Given the description of an element on the screen output the (x, y) to click on. 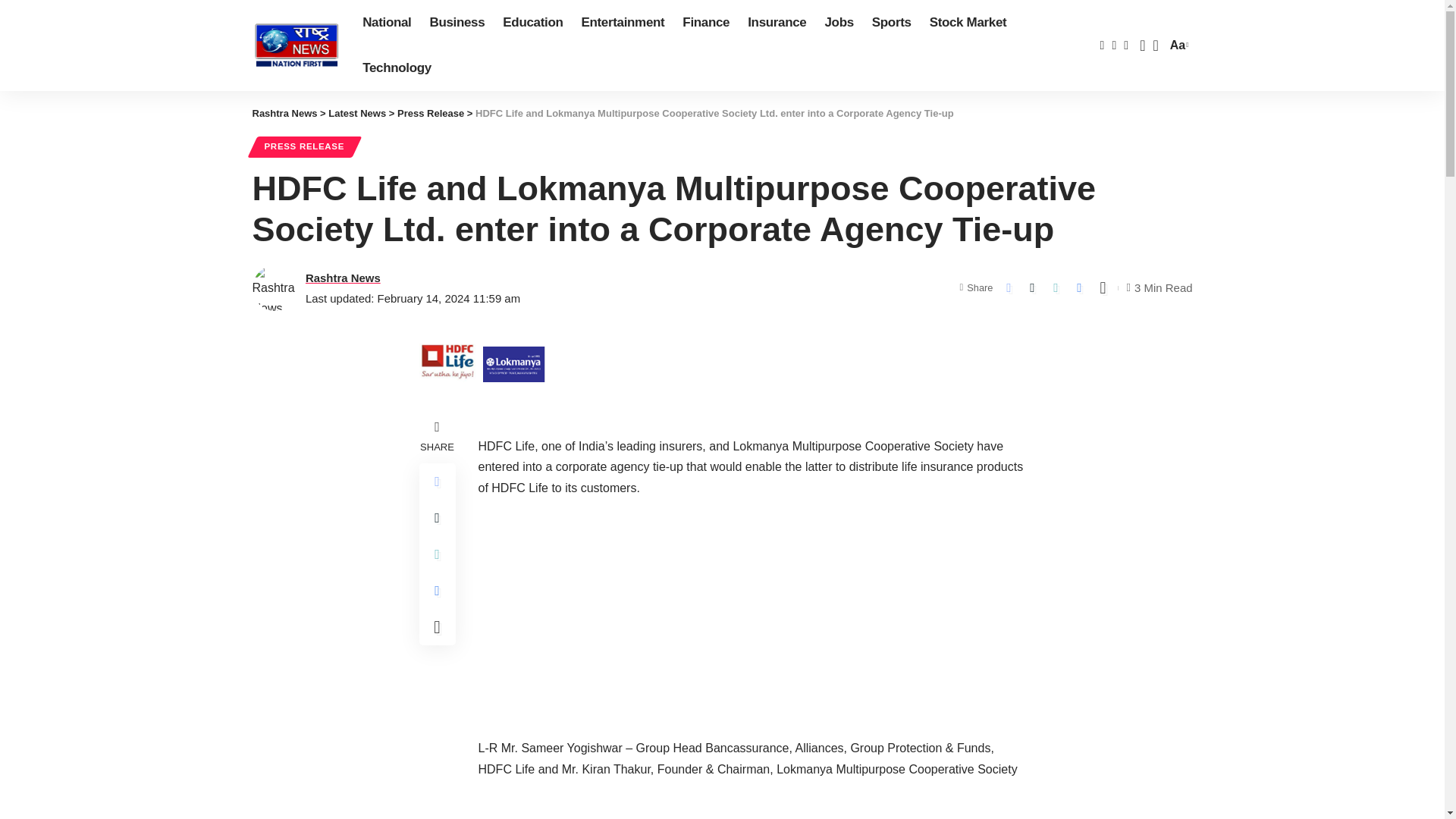
Entertainment (622, 22)
Stock Market (968, 22)
Insurance (776, 22)
Finance (705, 22)
National (386, 22)
Jobs (839, 22)
Sports (891, 22)
Go to Latest News. (357, 112)
Rashtra News (295, 44)
Go to the Press Release Category archives. (430, 112)
Business (456, 22)
Technology (1177, 45)
Go to Rashtra News. (397, 67)
